Given the description of an element on the screen output the (x, y) to click on. 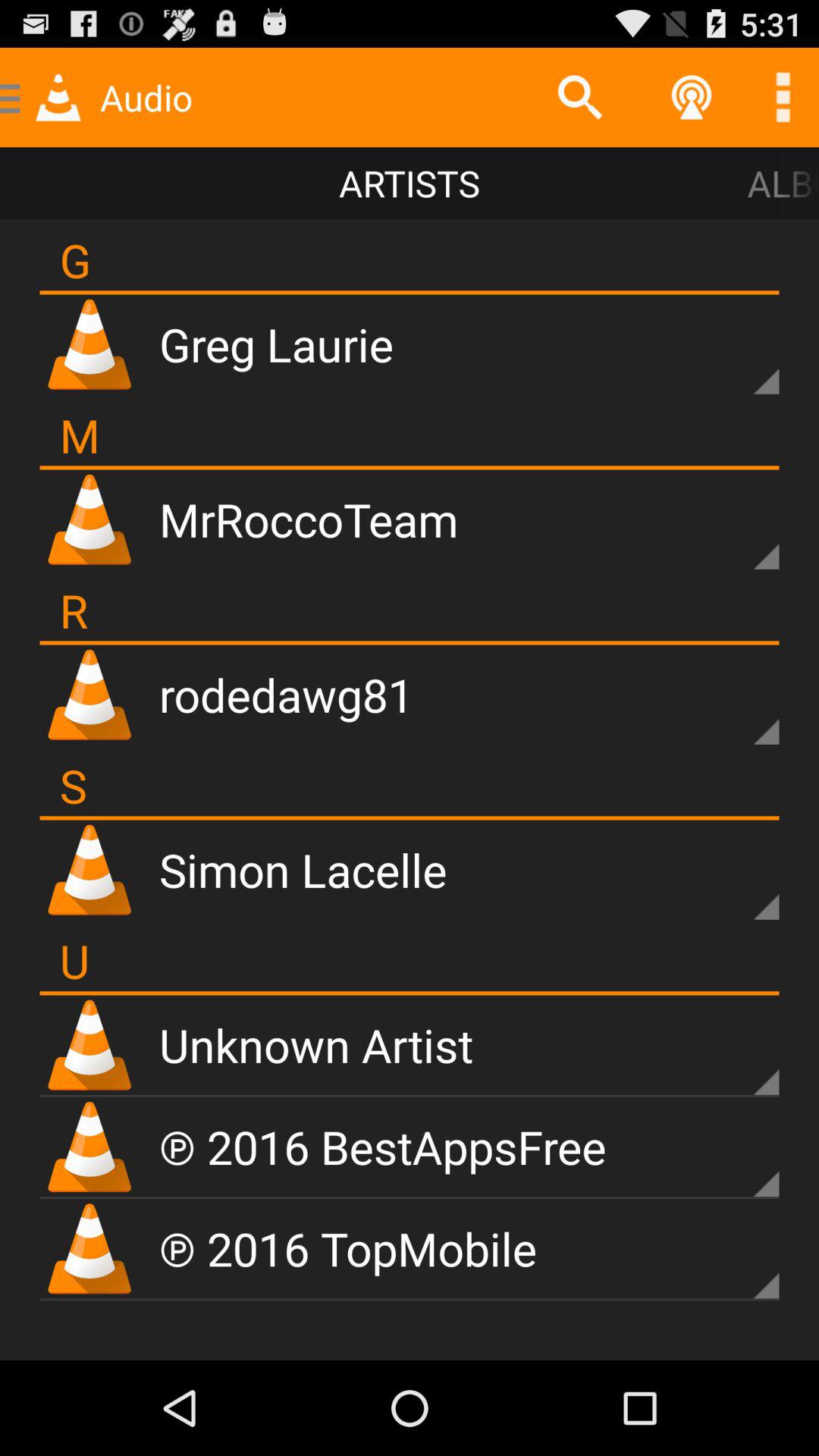
opens sub-menu (740, 880)
